Given the description of an element on the screen output the (x, y) to click on. 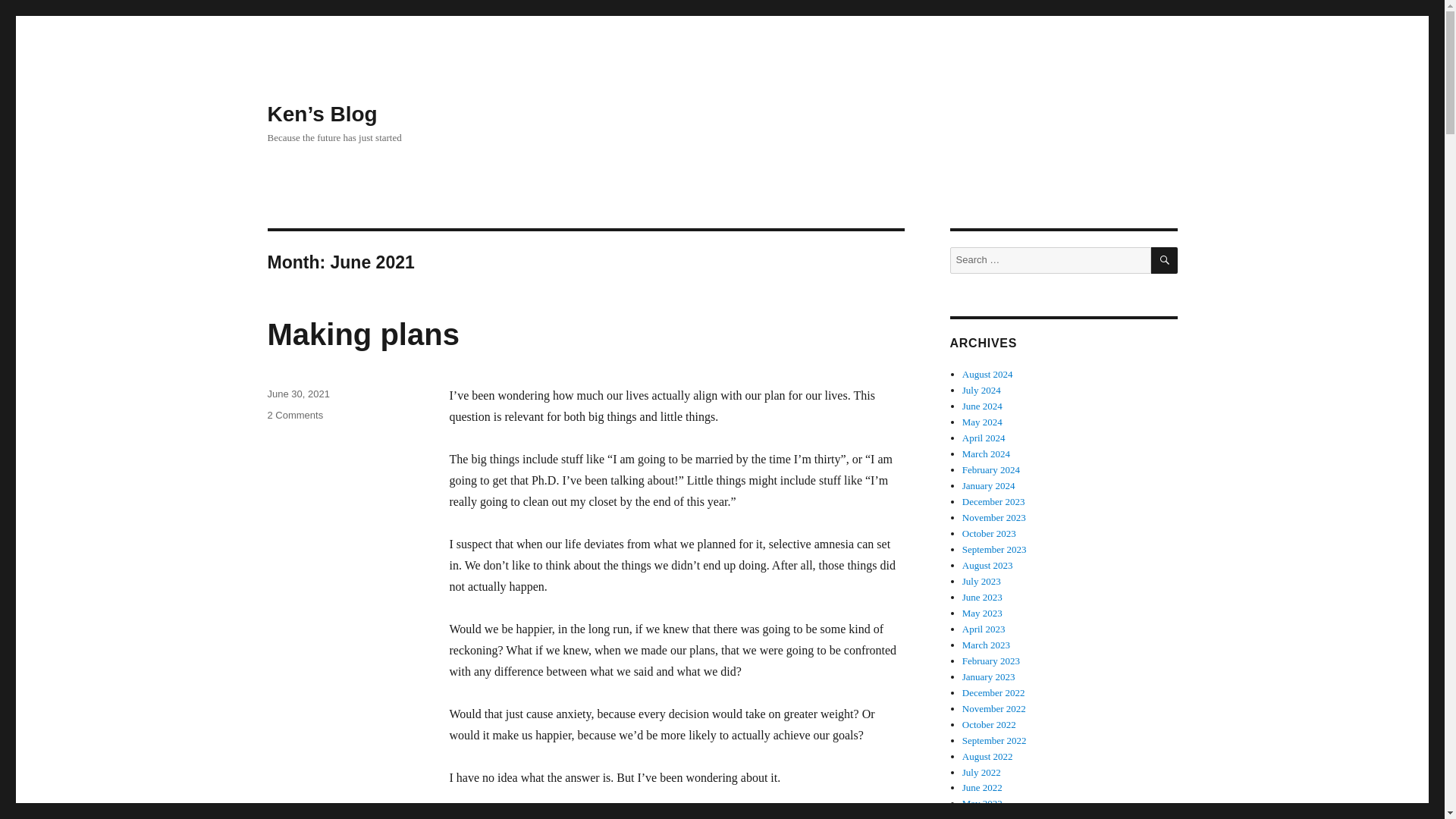
Making plans (362, 334)
June 30, 2021 (294, 414)
